Given the description of an element on the screen output the (x, y) to click on. 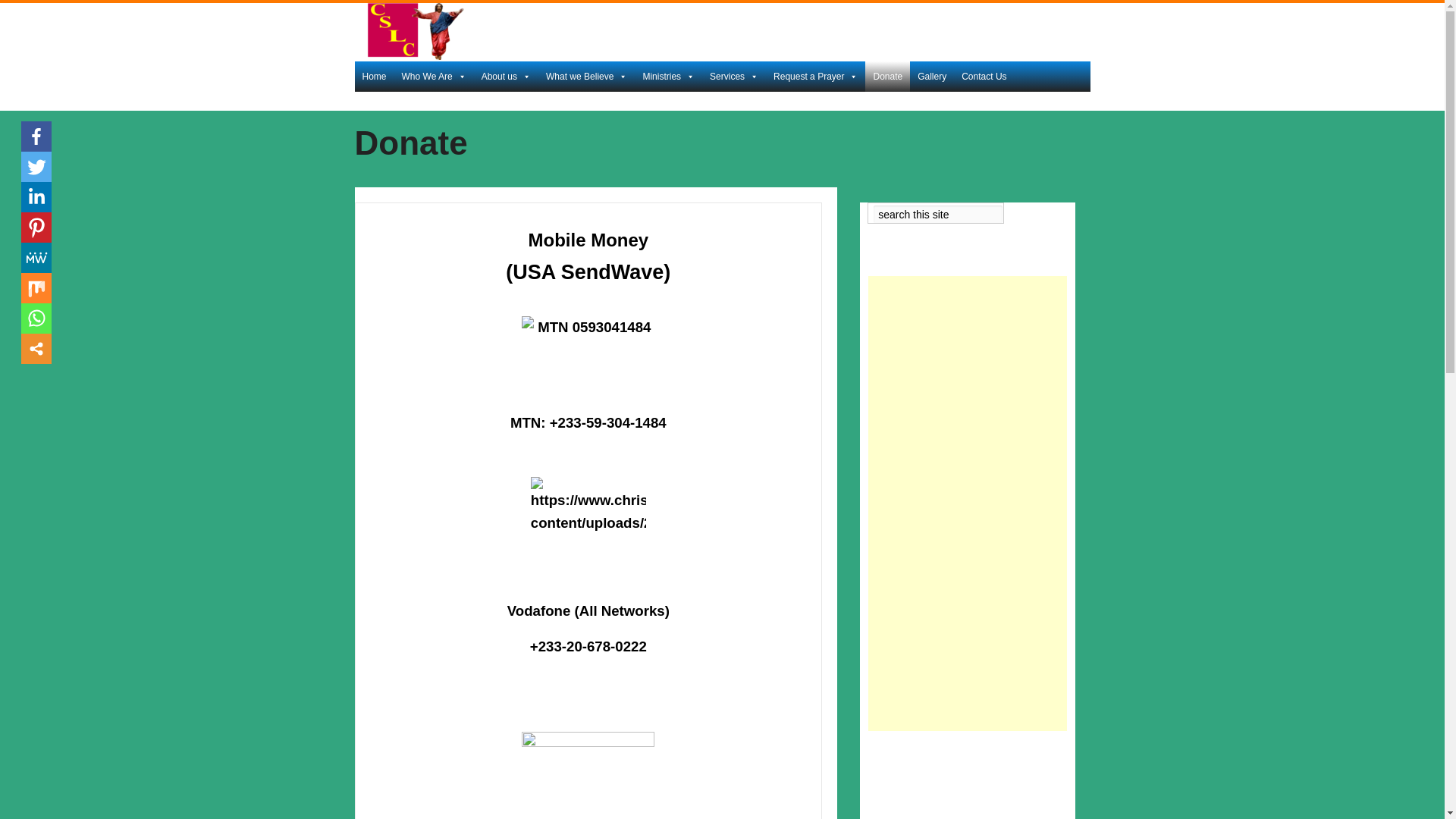
About us (506, 76)
MeWe (35, 257)
christshininglightchapel (438, 55)
Services (733, 76)
Pinterest (35, 227)
Twitter (35, 166)
Facebook (35, 136)
Linkedin (35, 196)
search this site (938, 213)
Mix (35, 287)
